Given the description of an element on the screen output the (x, y) to click on. 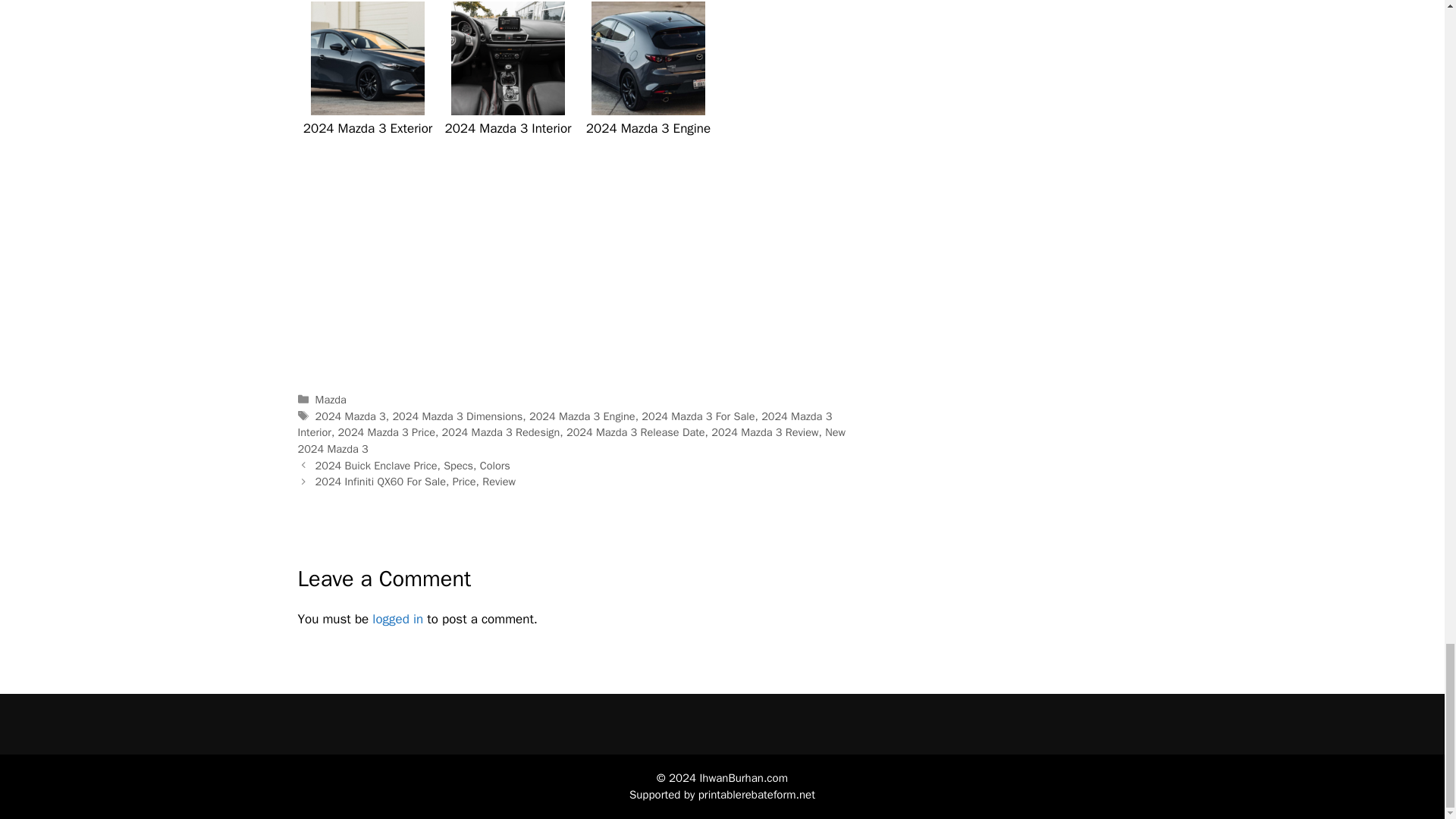
2024 Mazda 3 For Sale (698, 416)
2024 Mazda 3 Price (386, 431)
Mazda (330, 399)
2024 Mazda 3 Dimensions (456, 416)
2024 Mazda 3 Engine (581, 416)
2024 Mazda 3 (350, 416)
2024 Mazda 3 Interior (564, 424)
